Given the description of an element on the screen output the (x, y) to click on. 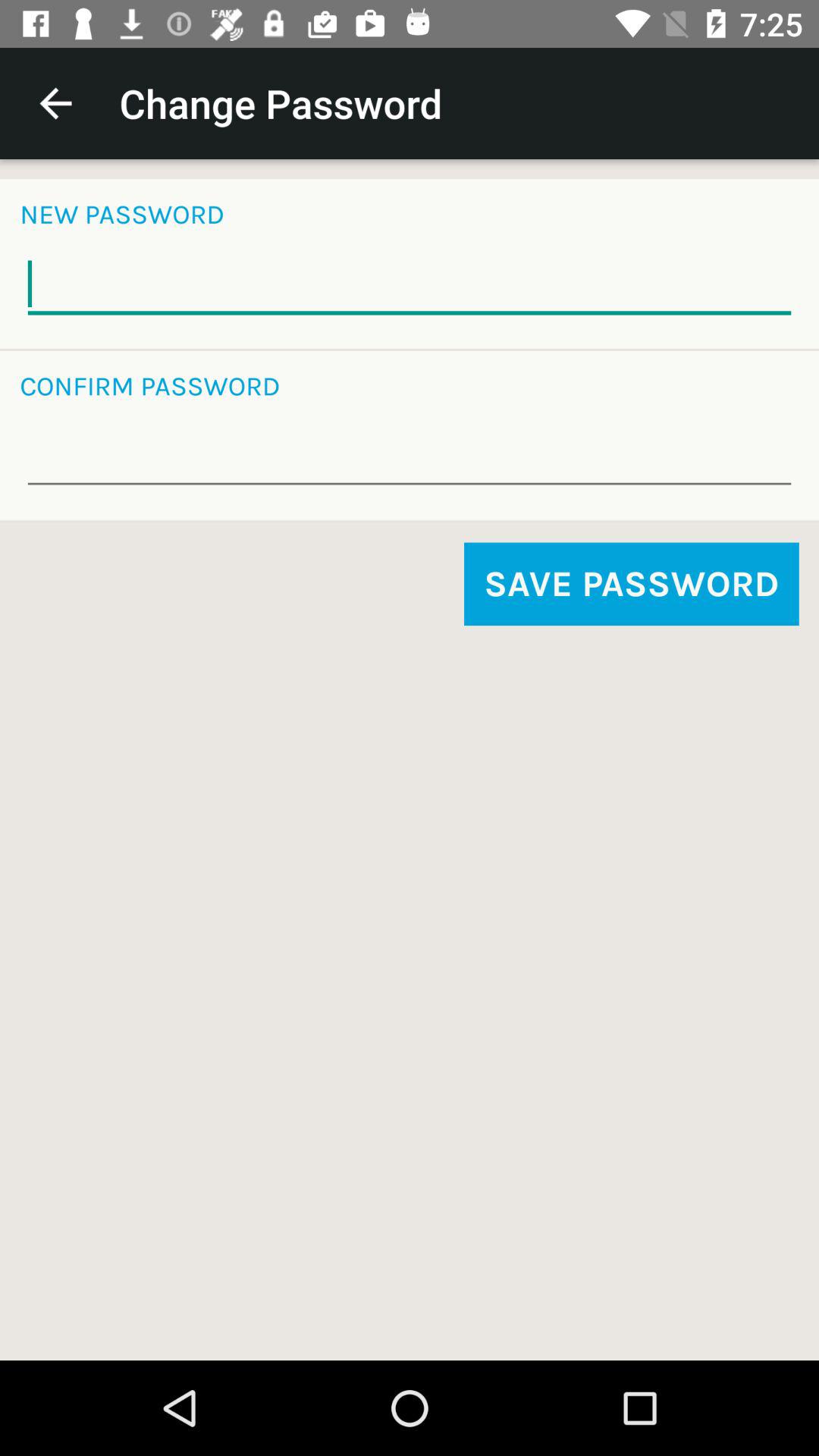
choose the save password item (631, 583)
